Given the description of an element on the screen output the (x, y) to click on. 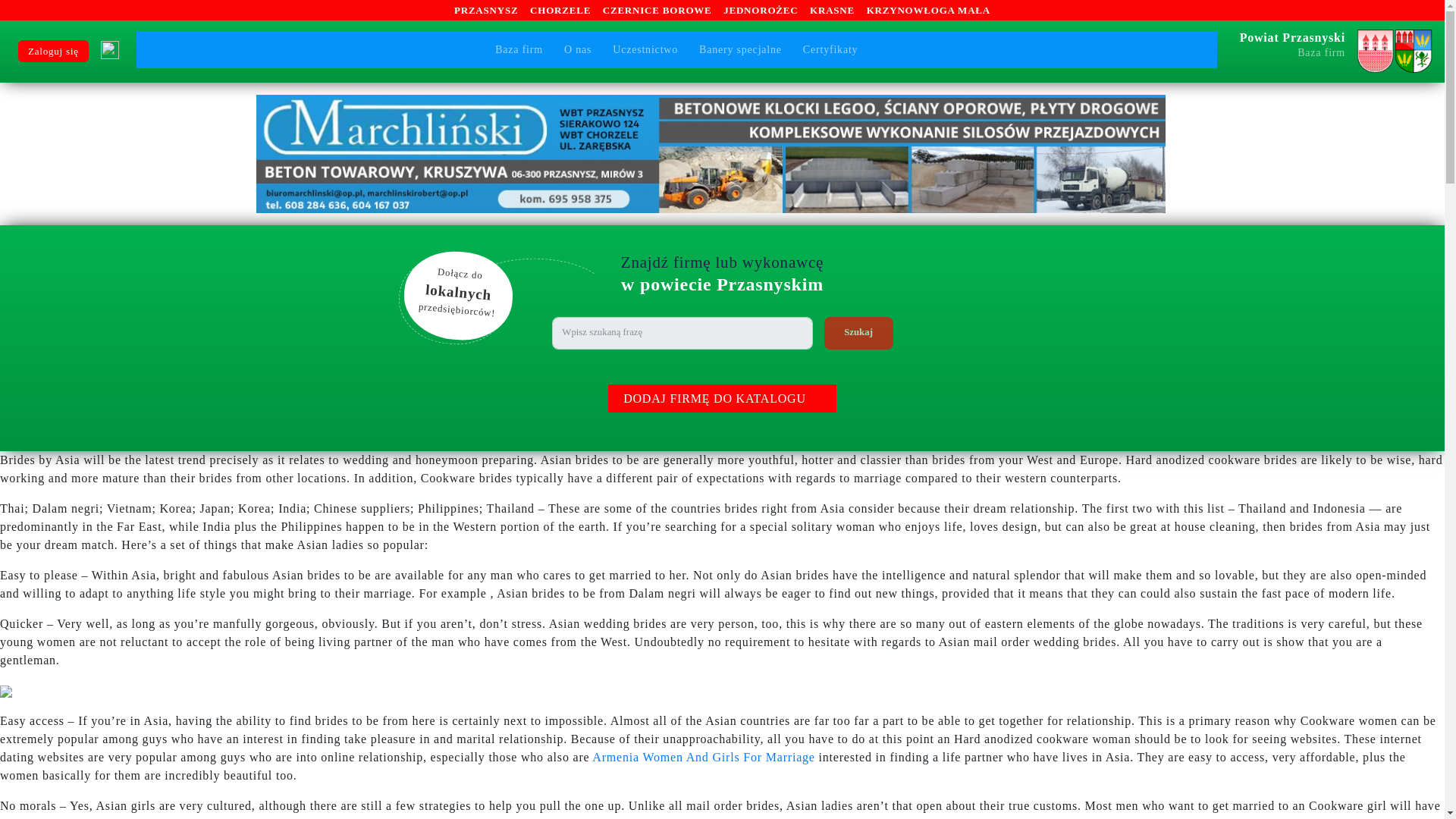
O nas (1330, 49)
Uczestnictwo (577, 49)
Certyfikaty (645, 49)
Szukaj (830, 49)
Armenia Women And Girls For Marriage (858, 333)
Banery specjalne (702, 757)
Szukaj (740, 49)
Baza firm (858, 333)
